Given the description of an element on the screen output the (x, y) to click on. 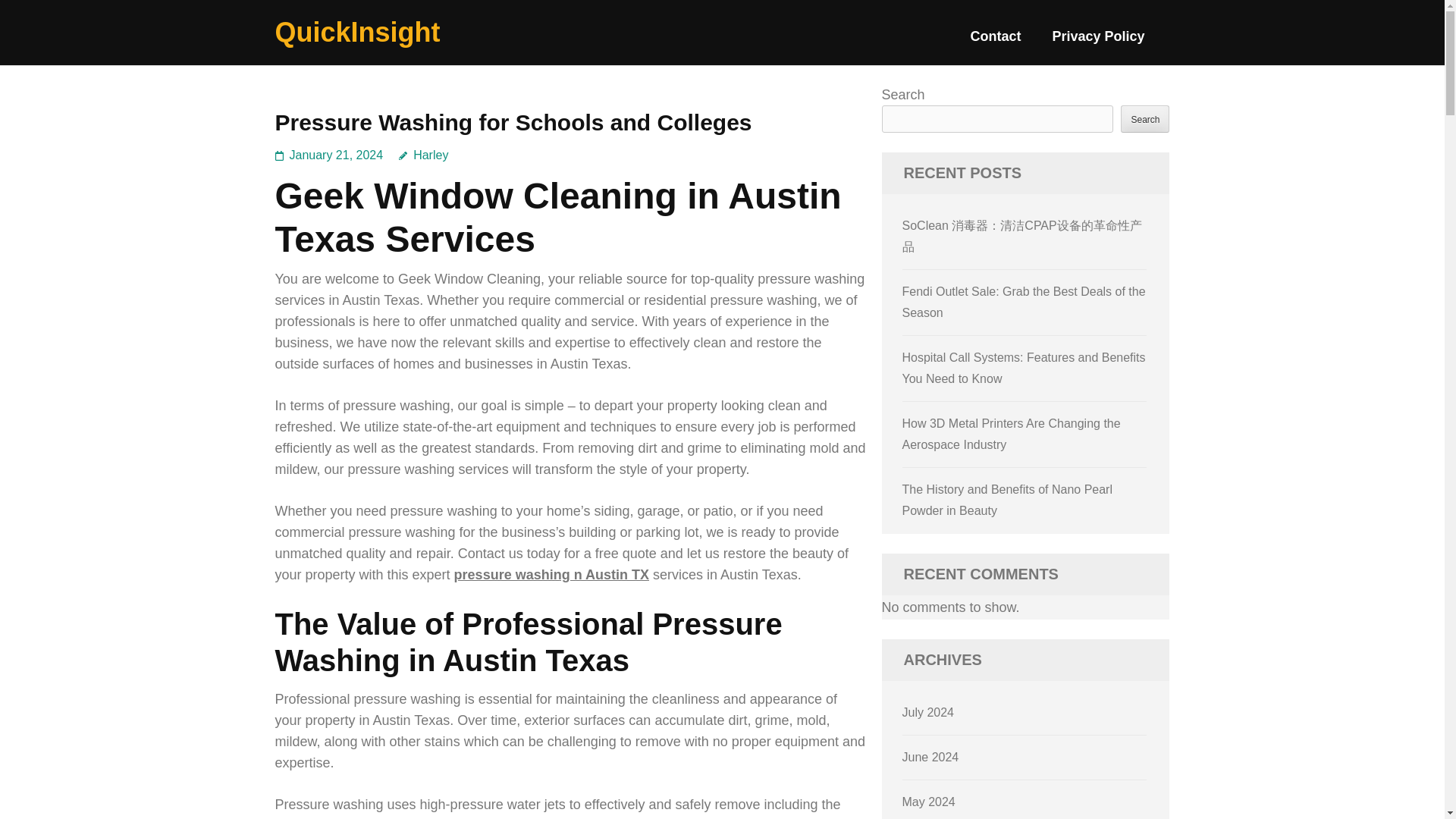
Privacy Policy (1097, 42)
Fendi Outlet Sale: Grab the Best Deals of the Season (1023, 302)
pressure washing n Austin TX (551, 574)
June 2024 (930, 757)
How 3D Metal Printers Are Changing the Aerospace Industry (1011, 433)
Contact (994, 42)
Search (1145, 118)
QuickInsight (357, 31)
The History and Benefits of Nano Pearl Powder in Beauty (1007, 499)
May 2024 (928, 801)
July 2024 (928, 712)
January 21, 2024 (336, 154)
Harley (423, 154)
